Given the description of an element on the screen output the (x, y) to click on. 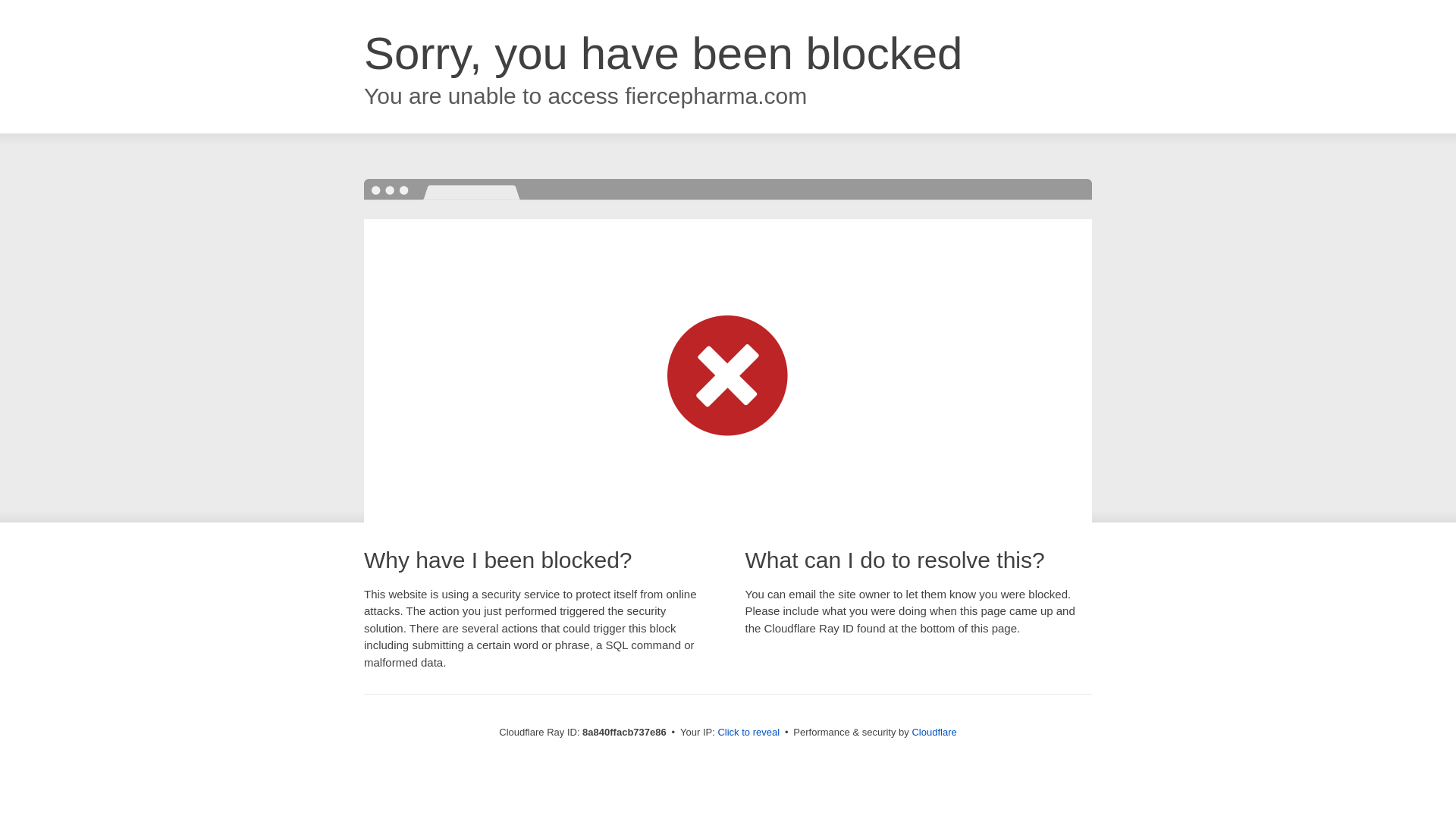
Cloudflare (933, 731)
Click to reveal (747, 732)
